Given the description of an element on the screen output the (x, y) to click on. 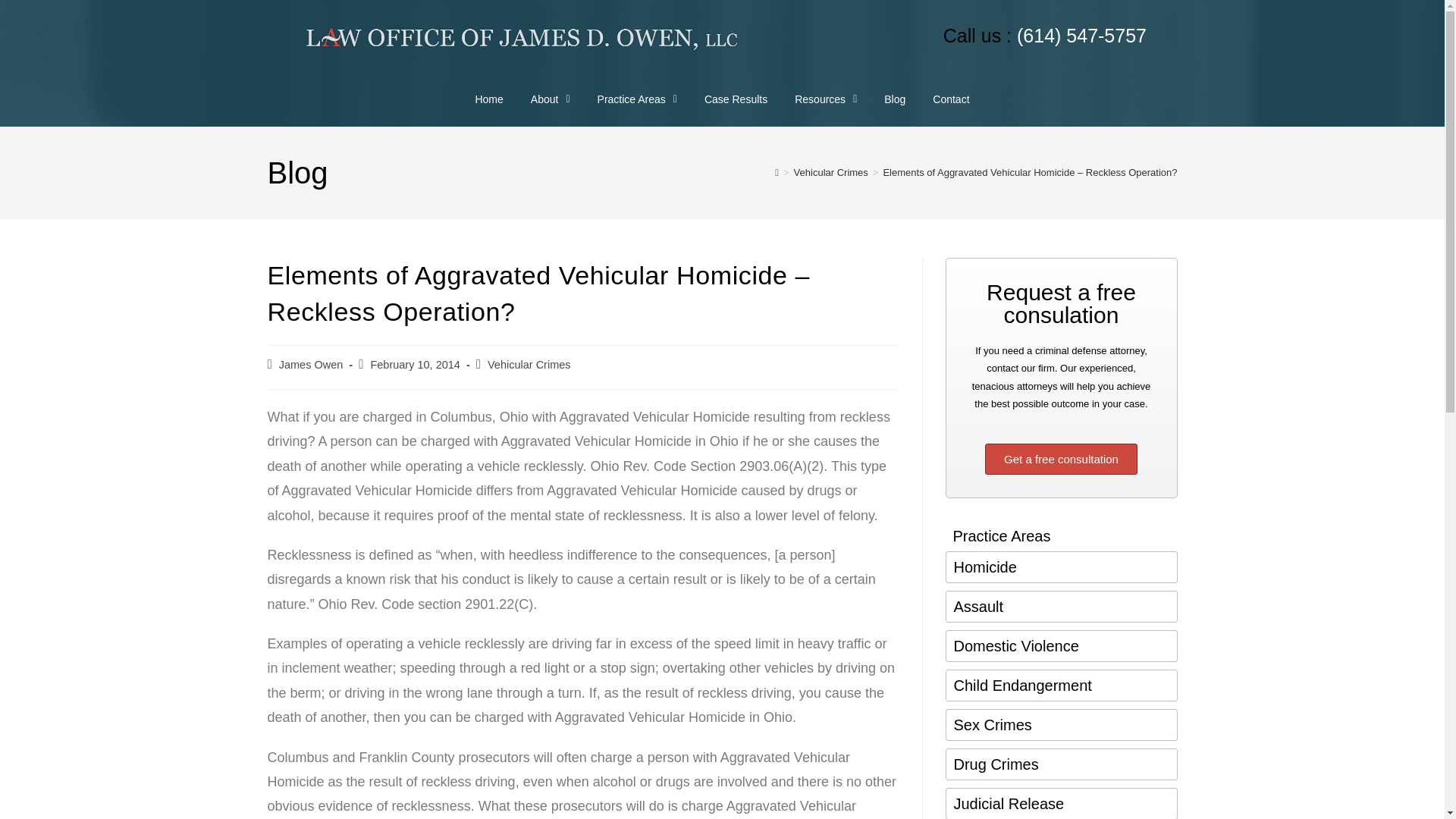
Posts by James Owen (311, 364)
Case Results (735, 98)
Resources (825, 98)
Blog (894, 98)
Contact (950, 98)
About (549, 98)
Home (488, 98)
Practice Areas (636, 98)
